Given the description of an element on the screen output the (x, y) to click on. 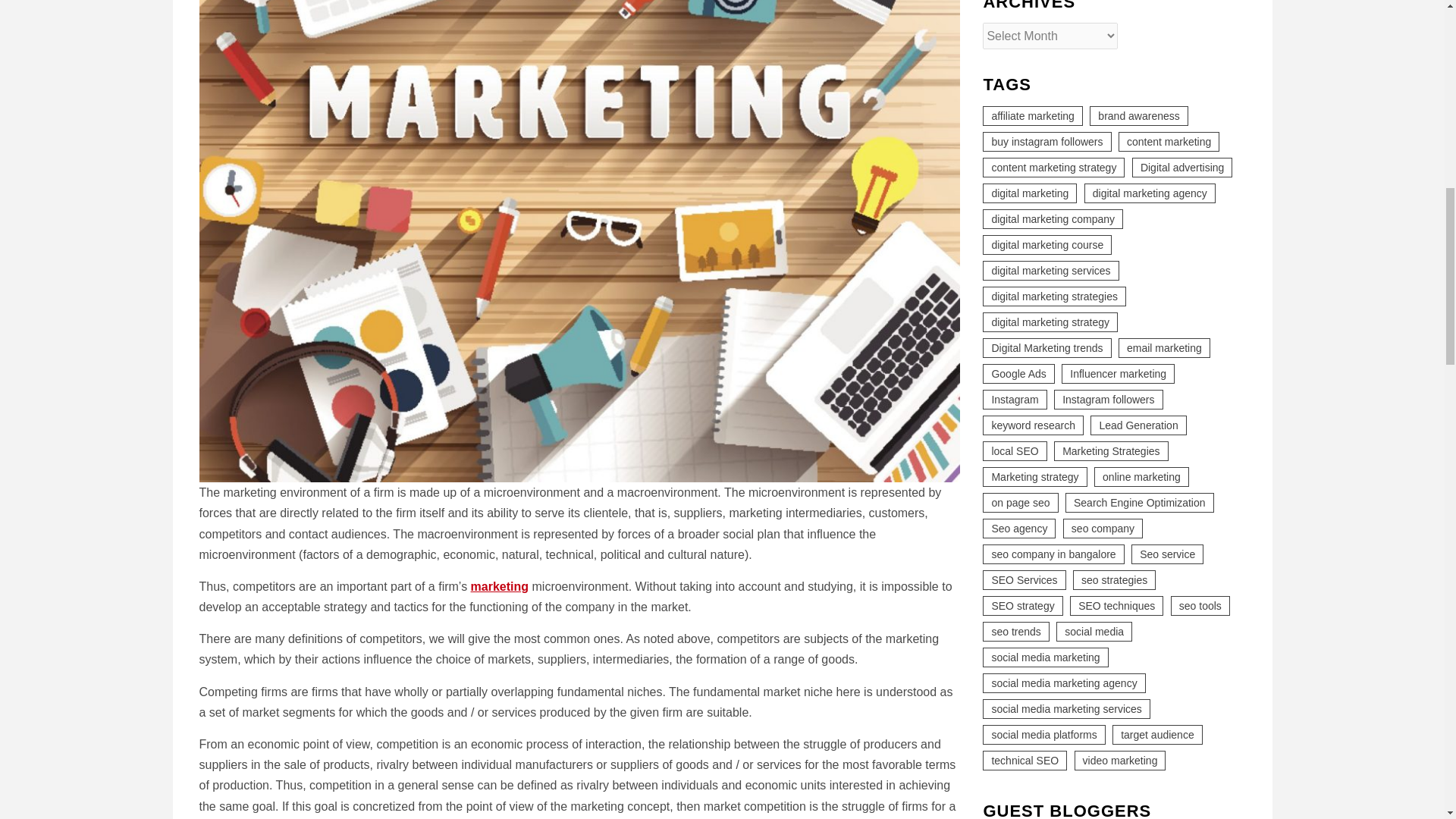
marketing (499, 585)
